Given the description of an element on the screen output the (x, y) to click on. 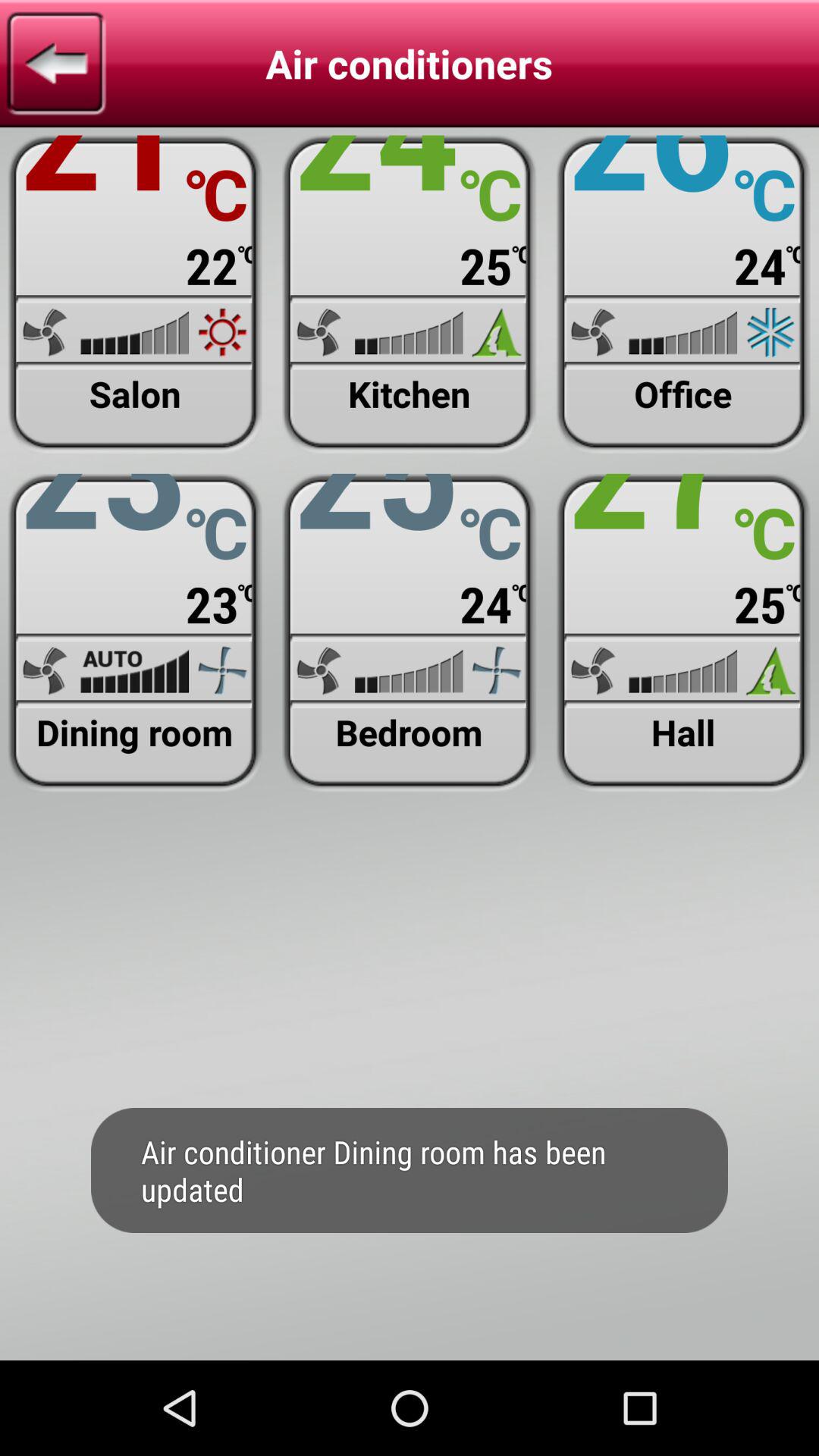
view/update bedroom air condition settings (409, 632)
